Given the description of an element on the screen output the (x, y) to click on. 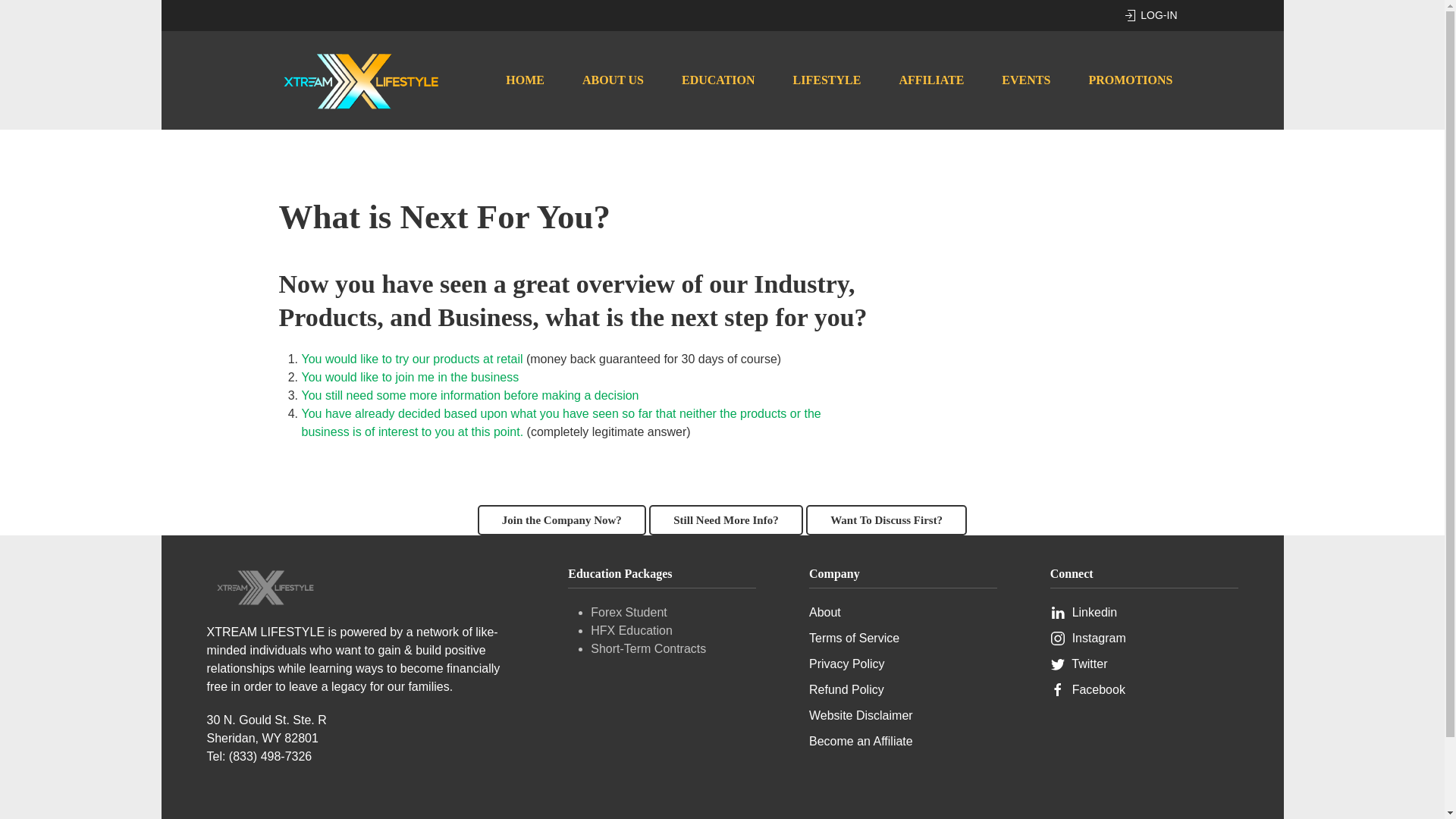
ABOUT US (612, 79)
LOG-IN (1149, 15)
LIFESTYLE (827, 79)
PROMOTIONS (1129, 79)
EVENTS (1025, 79)
AFFILIATE (930, 79)
EDUCATION (718, 79)
